Given the description of an element on the screen output the (x, y) to click on. 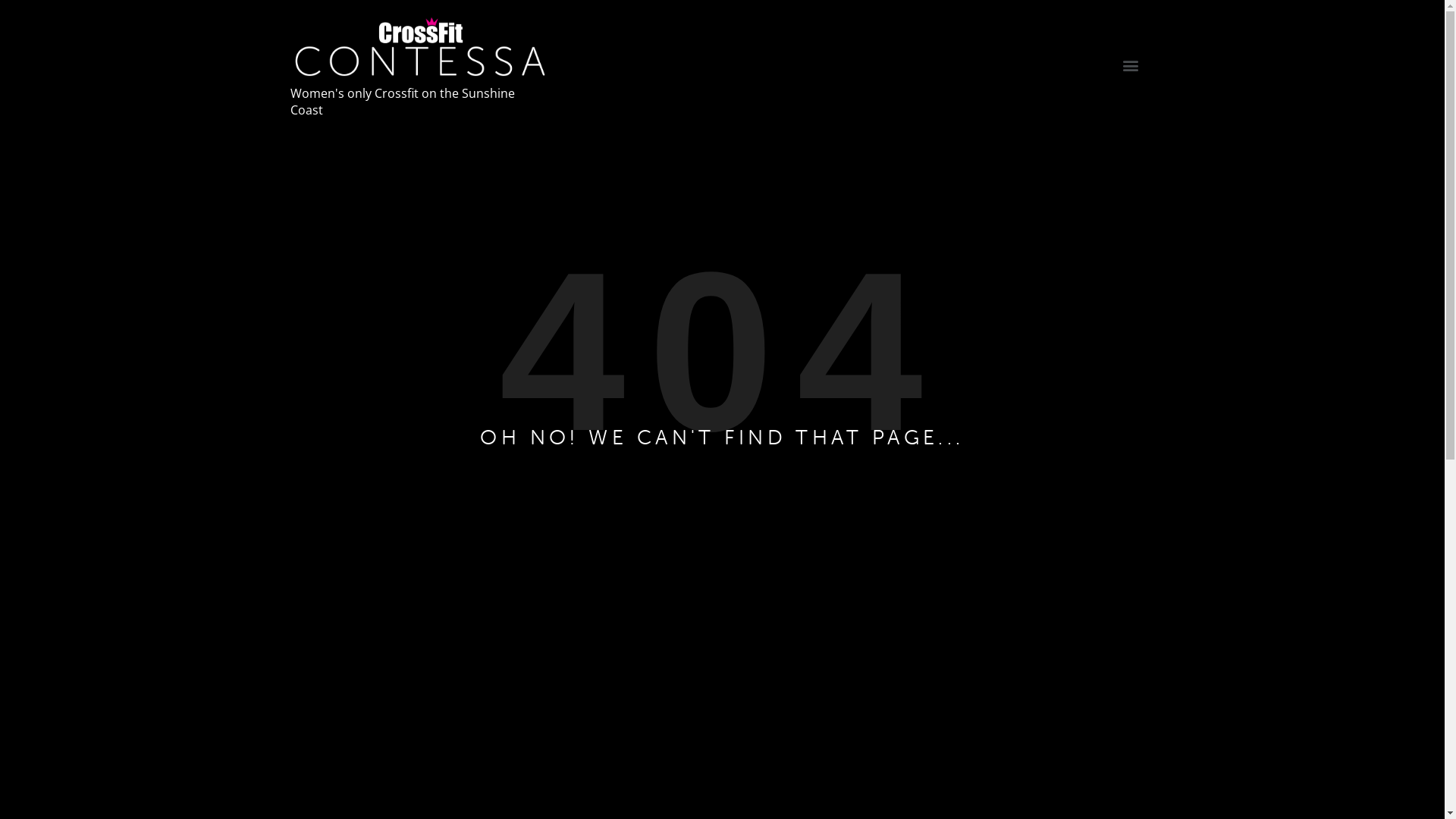
Programs Element type: text (722, 154)
